Given the description of an element on the screen output the (x, y) to click on. 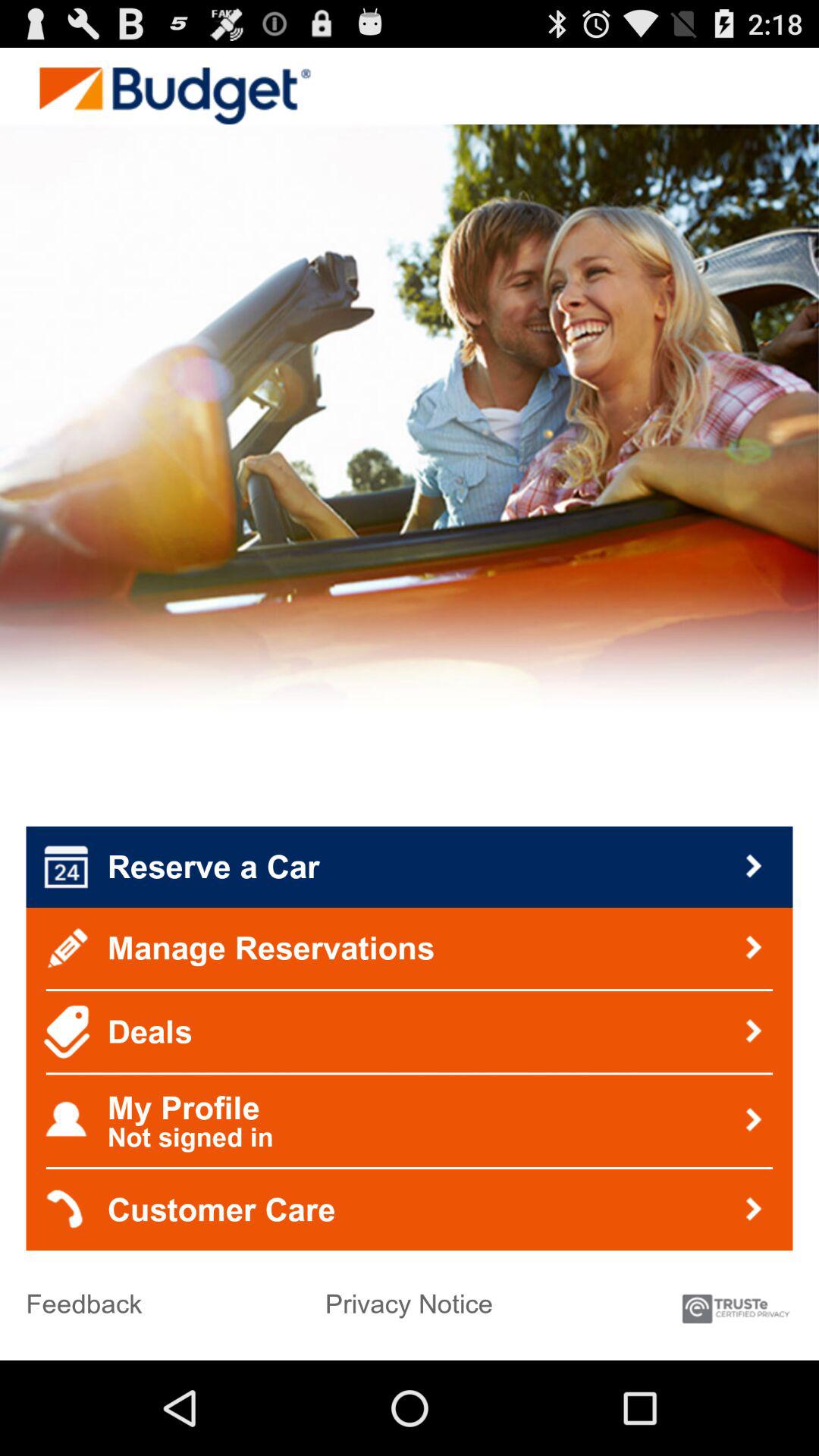
flip until deals icon (409, 1031)
